Given the description of an element on the screen output the (x, y) to click on. 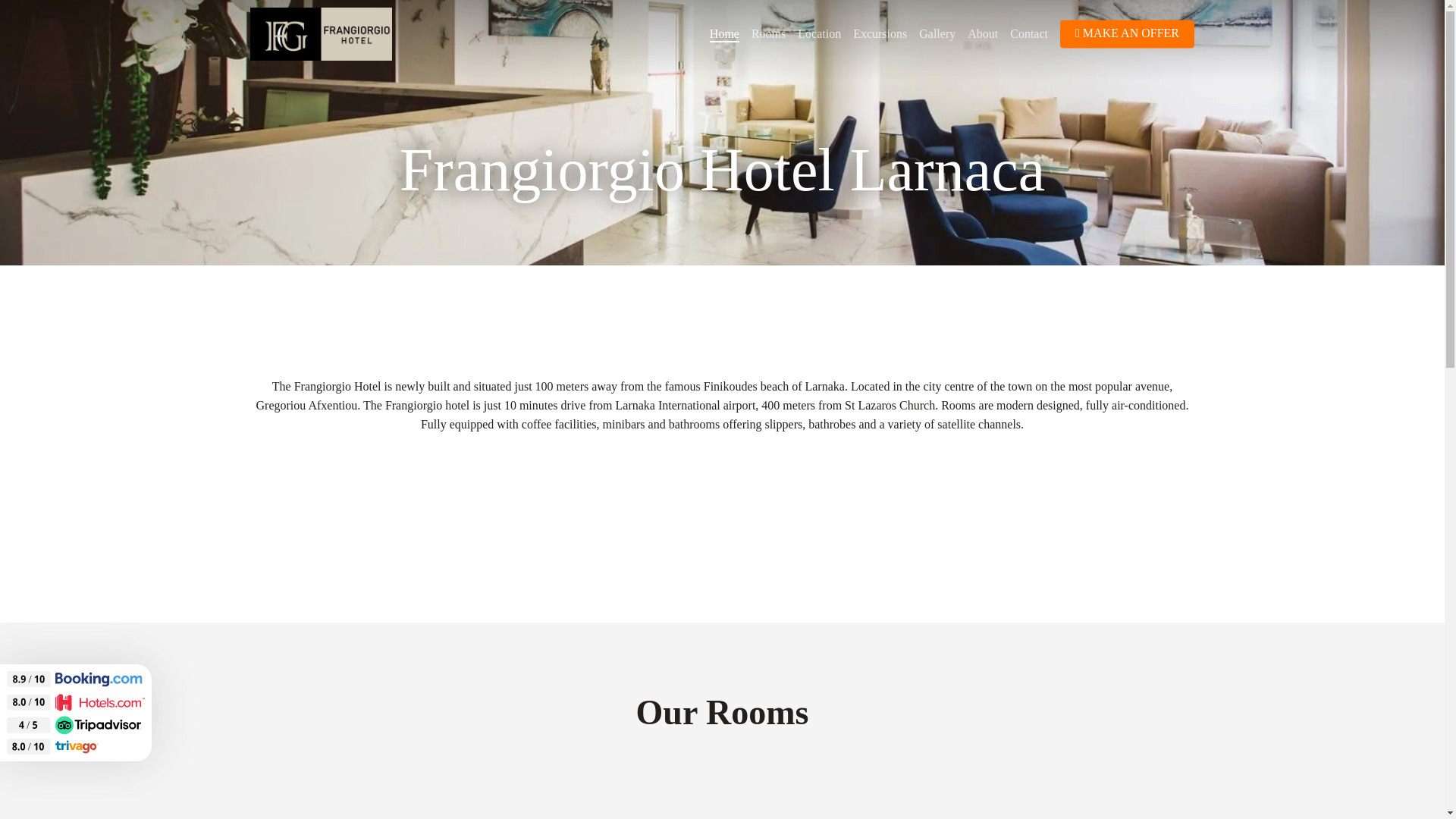
Home (724, 33)
About (982, 33)
MAKE AN OFFER (1126, 33)
Excursions (880, 33)
Contact (1029, 33)
Gallery (936, 33)
Rooms (768, 33)
Location (819, 33)
